Given the description of an element on the screen output the (x, y) to click on. 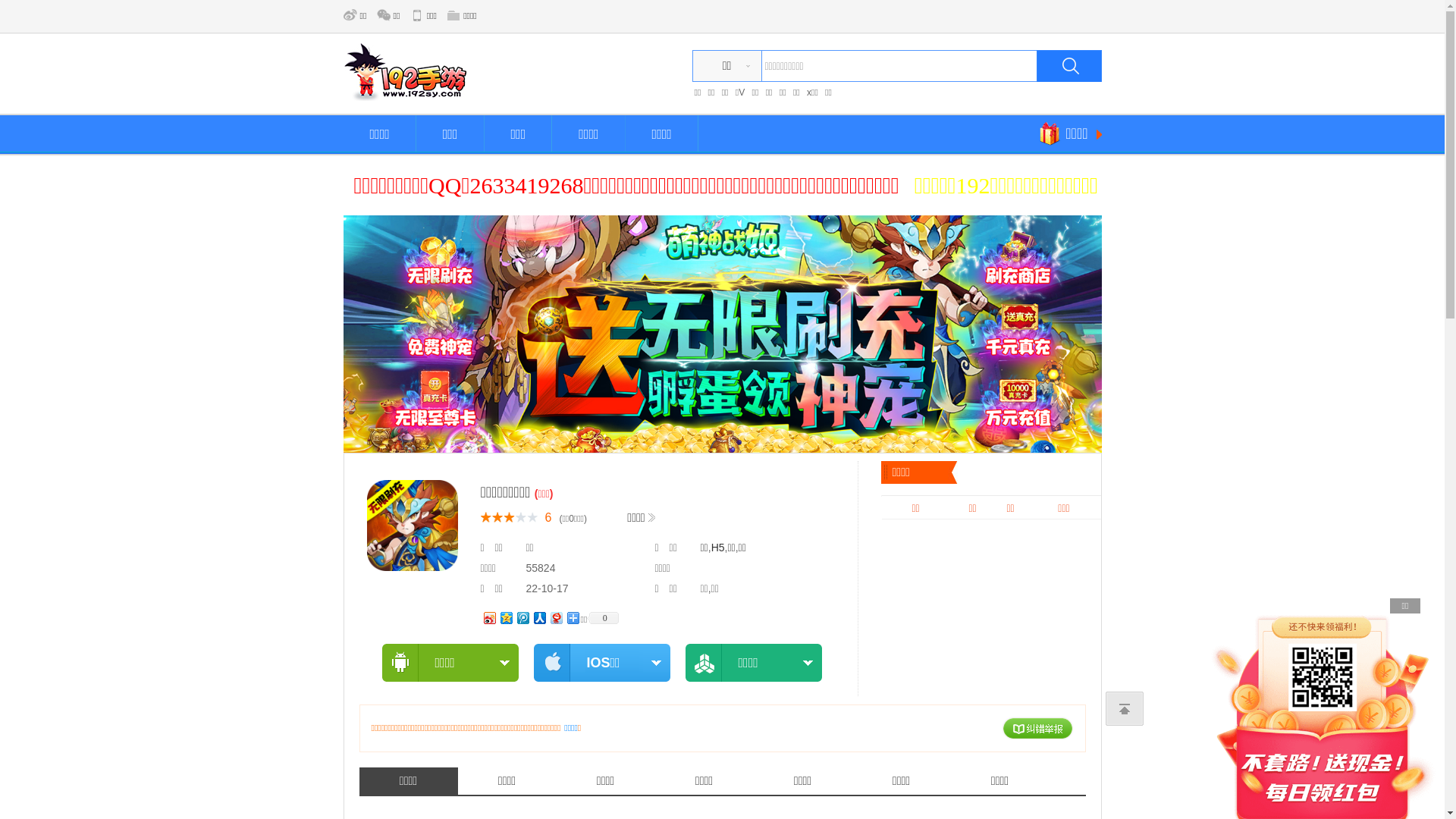
H5 Element type: text (717, 547)
0 Element type: text (602, 617)
